Given the description of an element on the screen output the (x, y) to click on. 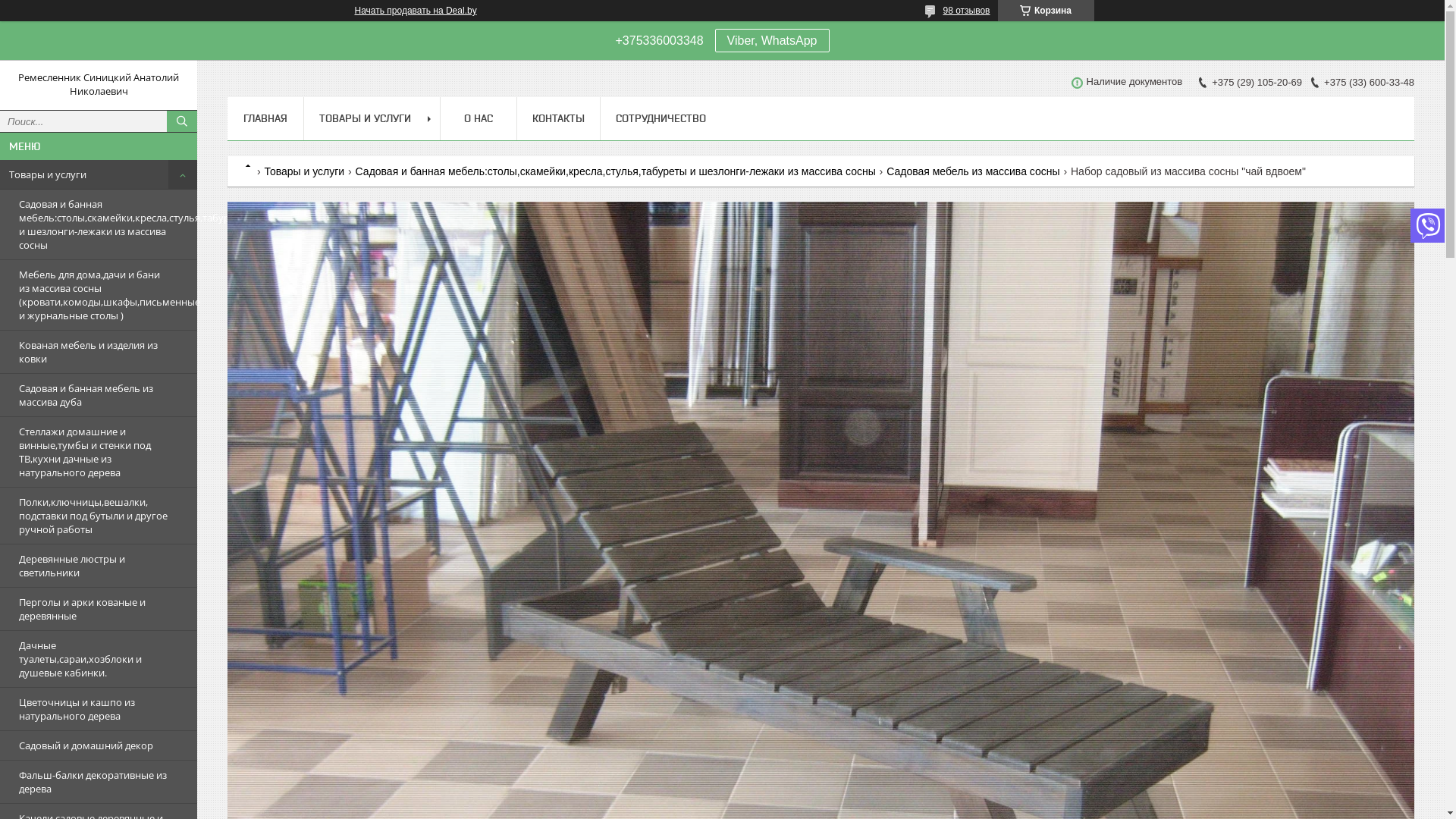
Viber, WhatsApp Element type: text (772, 40)
